Given the description of an element on the screen output the (x, y) to click on. 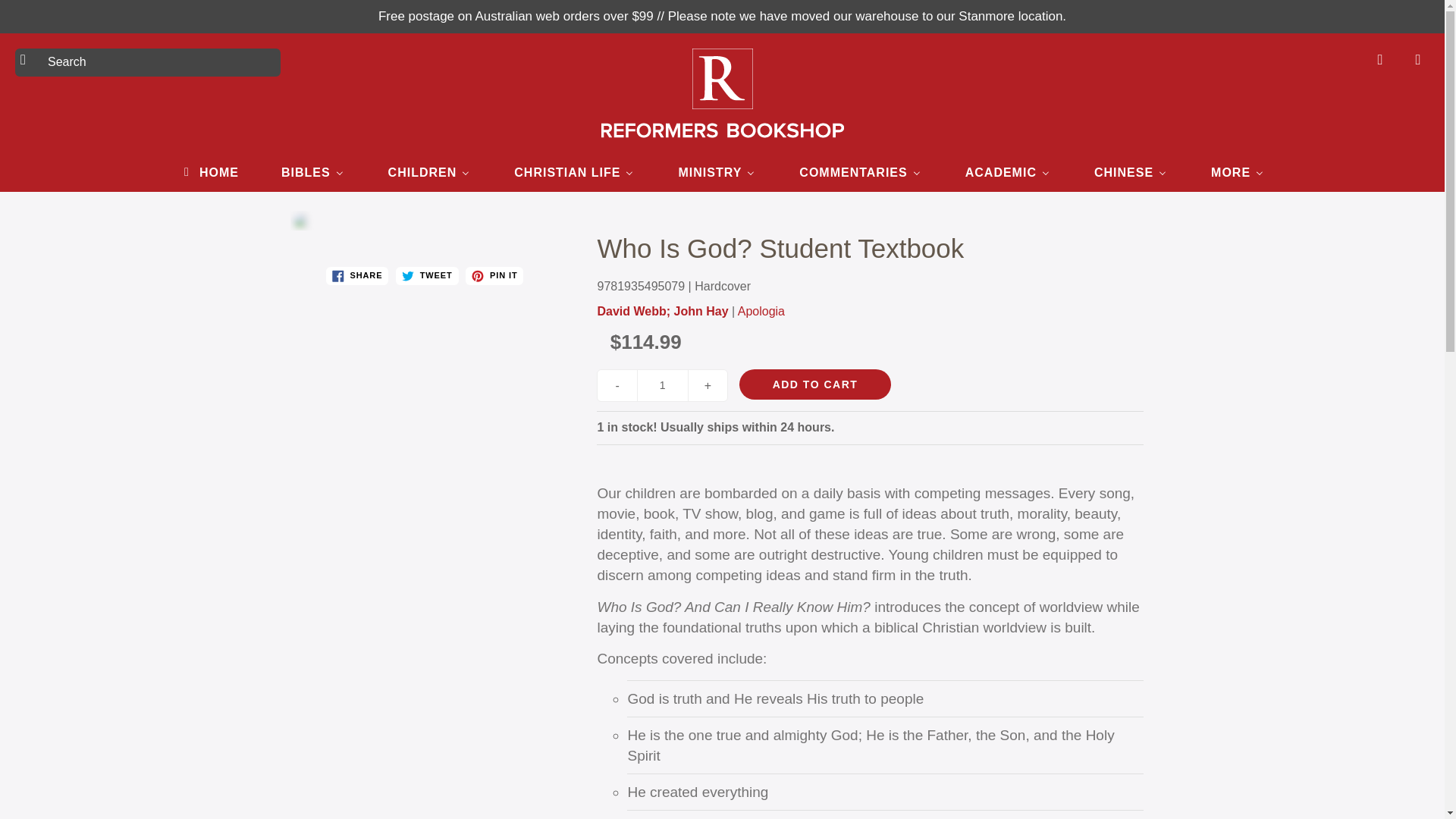
1 (662, 385)
Search (28, 59)
My account (1379, 59)
BIBLES (312, 172)
You have 0 items in your cart (1417, 59)
CHILDREN (429, 172)
HOME (208, 172)
